Given the description of an element on the screen output the (x, y) to click on. 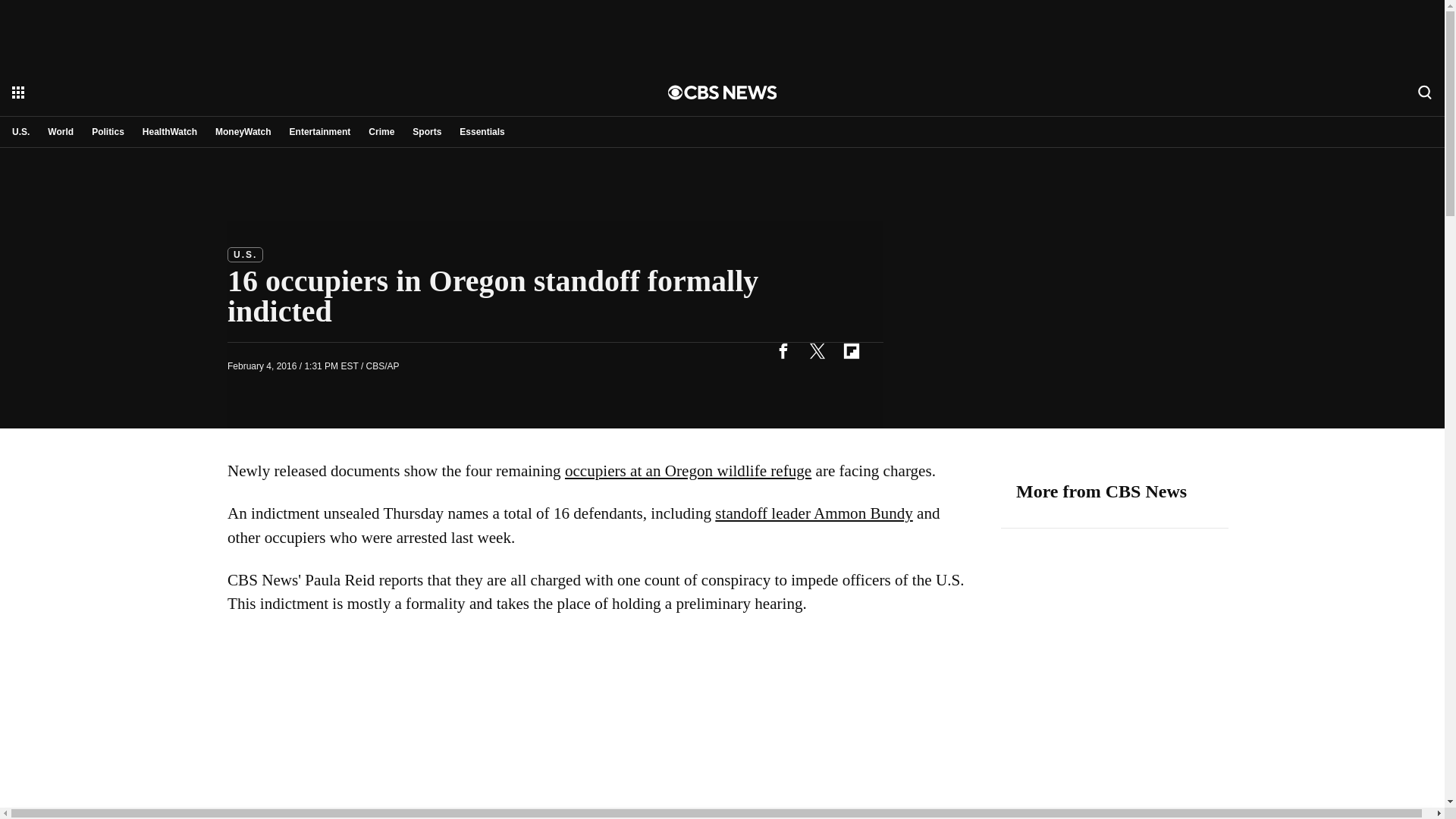
twitter (816, 350)
flipboard (850, 350)
facebook (782, 350)
